Given the description of an element on the screen output the (x, y) to click on. 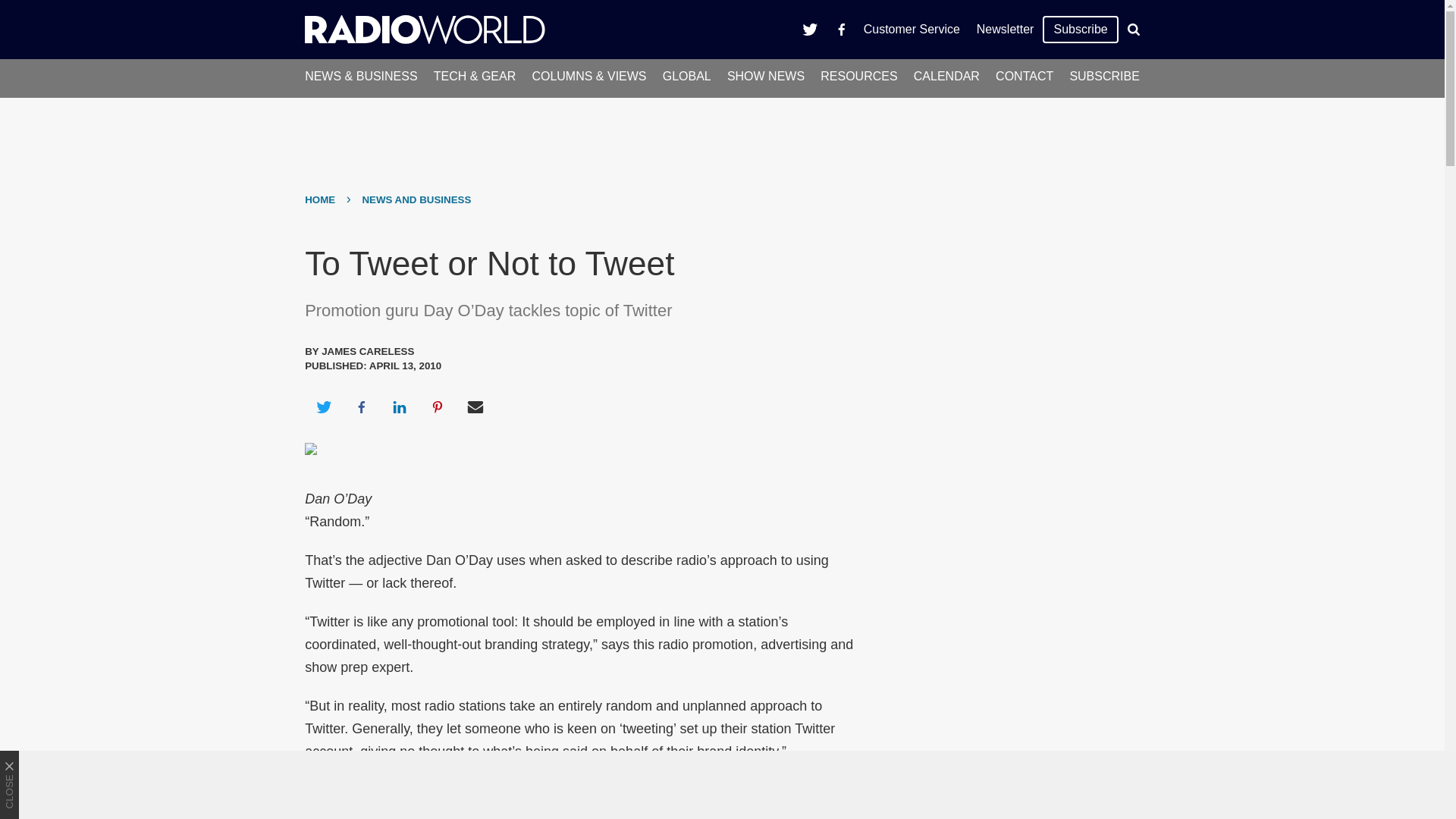
Share on Pinterest (438, 406)
Share on Twitter (323, 406)
Share via Email (476, 406)
Customer Service (912, 29)
Share on LinkedIn (399, 406)
Share on Facebook (361, 406)
